Given the description of an element on the screen output the (x, y) to click on. 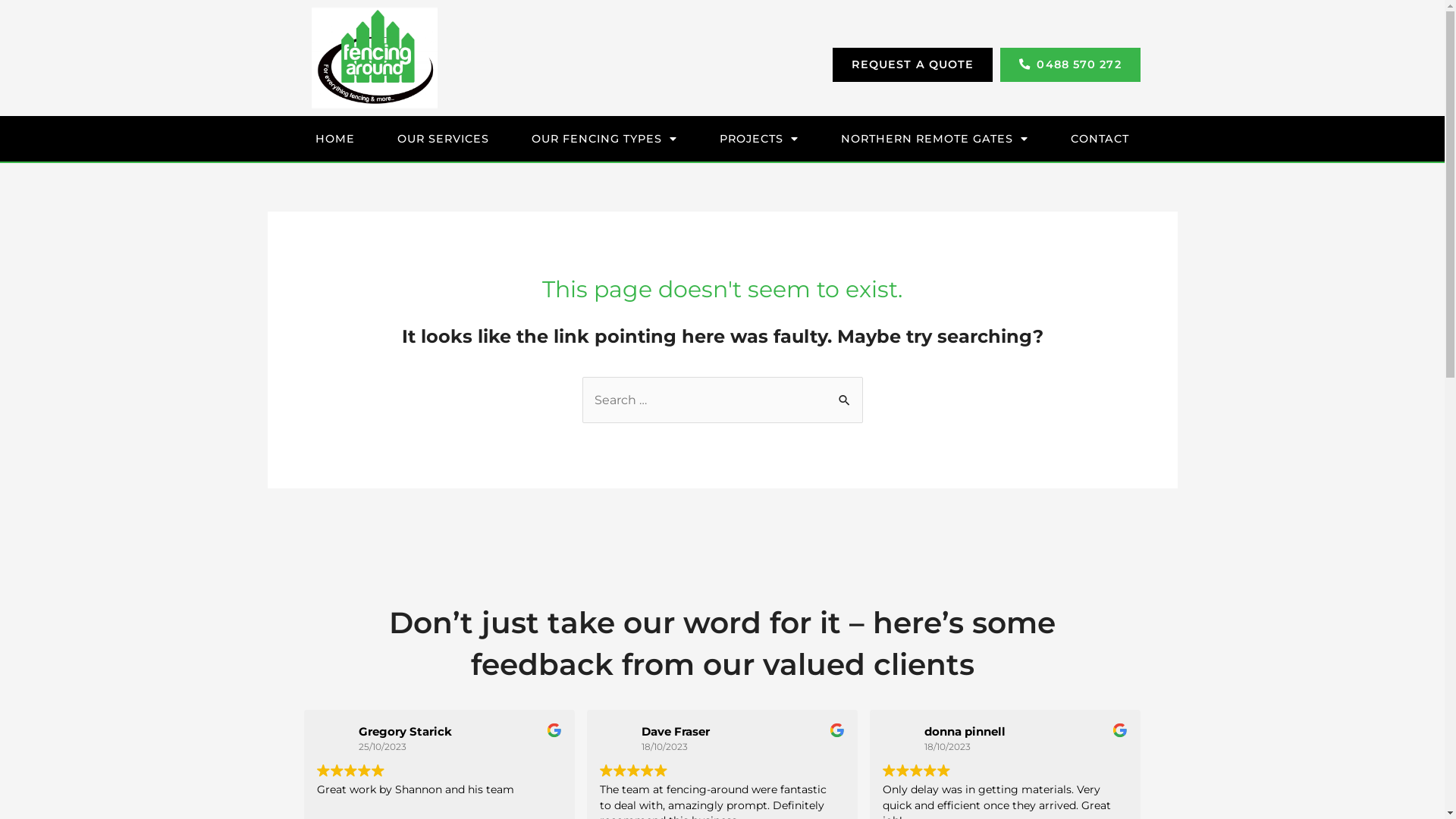
0488 570 272 Element type: text (1069, 64)
Search Element type: text (845, 391)
PROJECTS Element type: text (758, 138)
HOME Element type: text (335, 138)
NORTHERN REMOTE GATES Element type: text (934, 138)
OUR FENCING TYPES Element type: text (604, 138)
CONTACT Element type: text (1099, 138)
REQUEST A QUOTE Element type: text (912, 64)
OUR SERVICES Element type: text (443, 138)
